Given the description of an element on the screen output the (x, y) to click on. 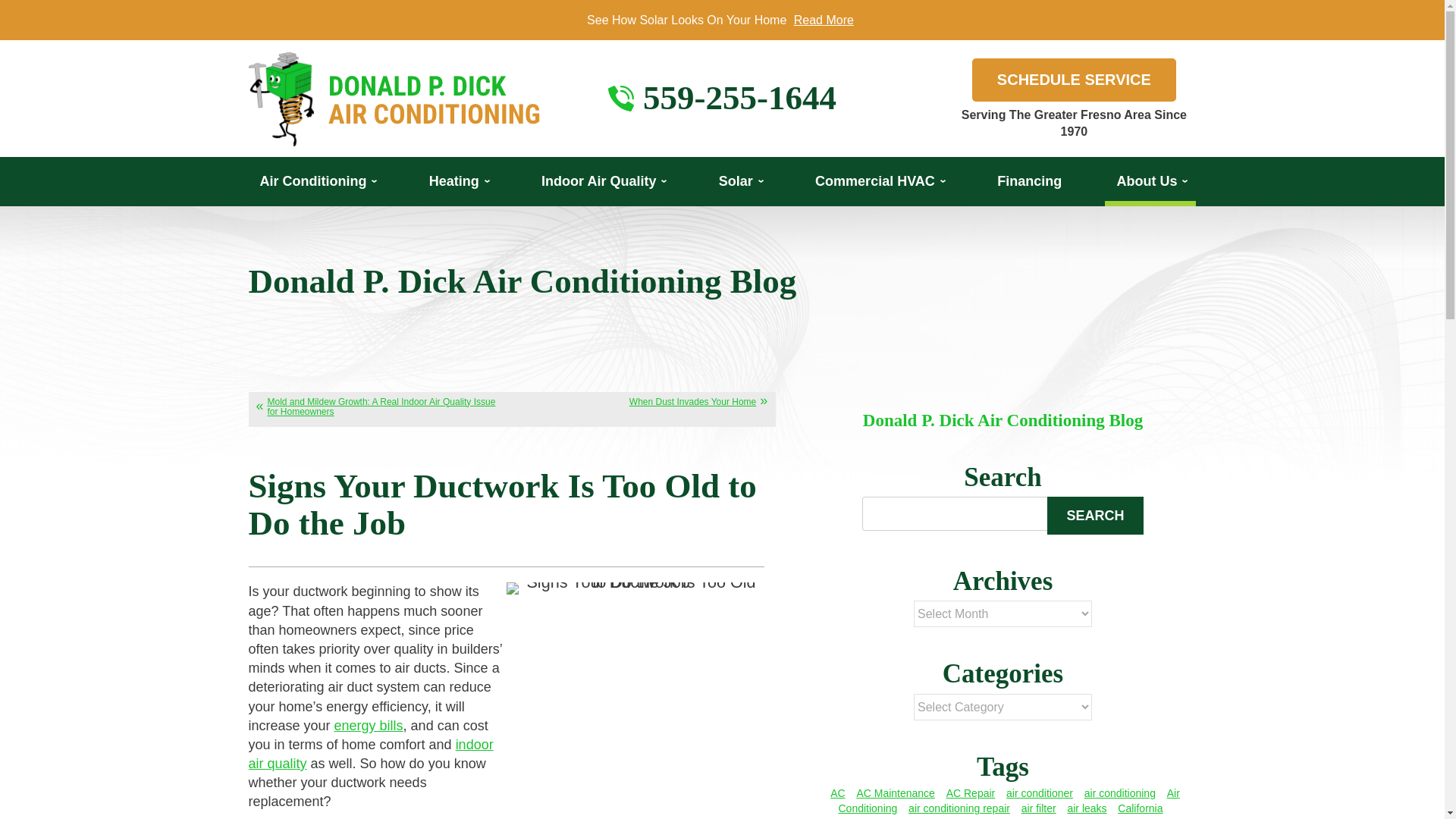
Heating (457, 181)
Read More (823, 19)
559-255-1644 (739, 97)
Indoor Air Quality (602, 181)
SCHEDULE SERVICE (1074, 79)
Air Conditioning (316, 181)
